Given the description of an element on the screen output the (x, y) to click on. 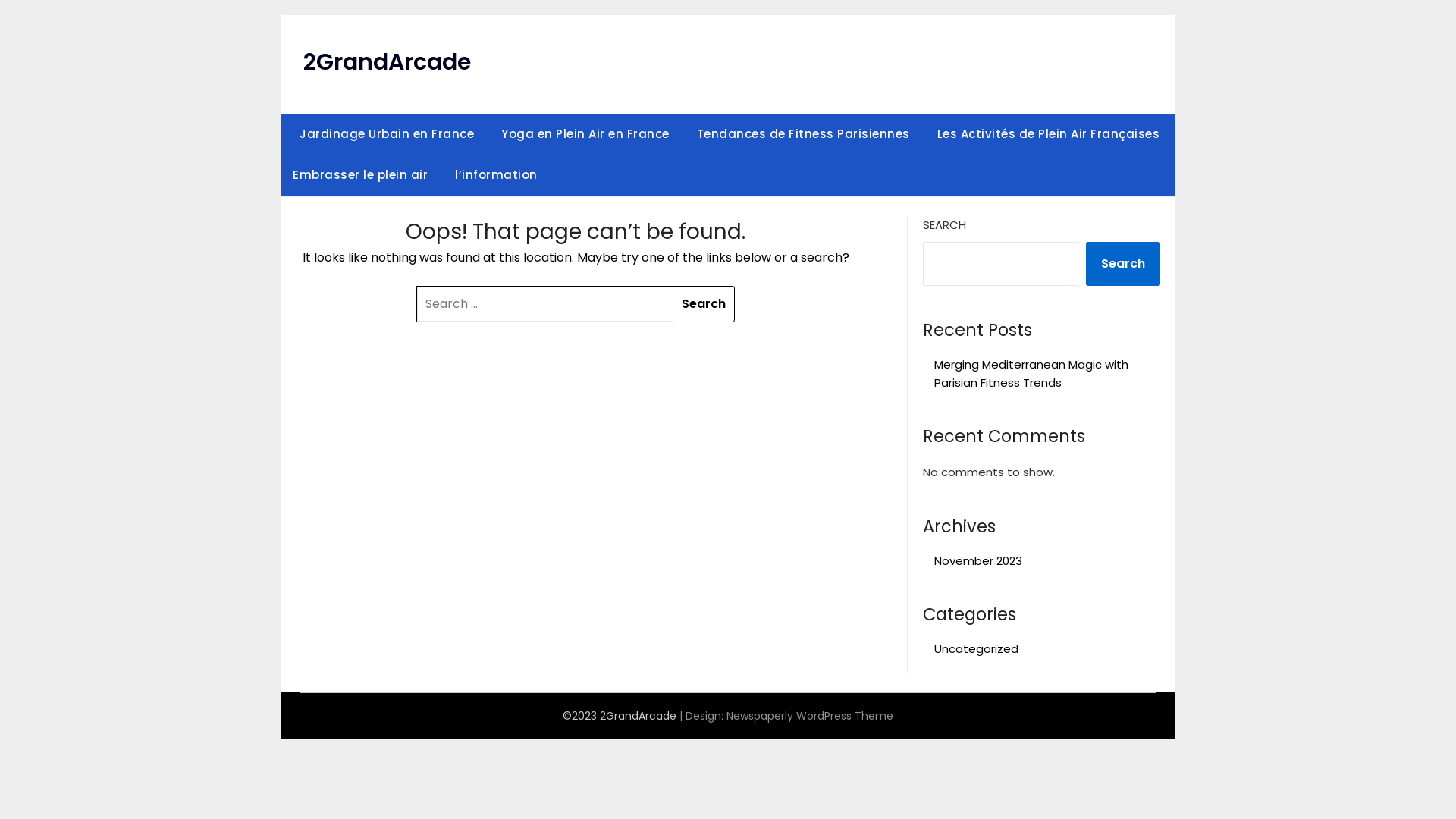
Yoga en Plein Air en France Element type: text (585, 133)
Jardinage Urbain en France Element type: text (383, 133)
Tendances de Fitness Parisiennes Element type: text (802, 133)
Search Element type: text (1122, 263)
Merging Mediterranean Magic with Parisian Fitness Trends Element type: text (1031, 373)
Uncategorized Element type: text (976, 647)
Embrasser le plein air Element type: text (359, 174)
Newspaperly WordPress Theme Element type: text (809, 715)
Search Element type: text (703, 303)
November 2023 Element type: text (978, 560)
2GrandArcade Element type: text (386, 62)
